Given the description of an element on the screen output the (x, y) to click on. 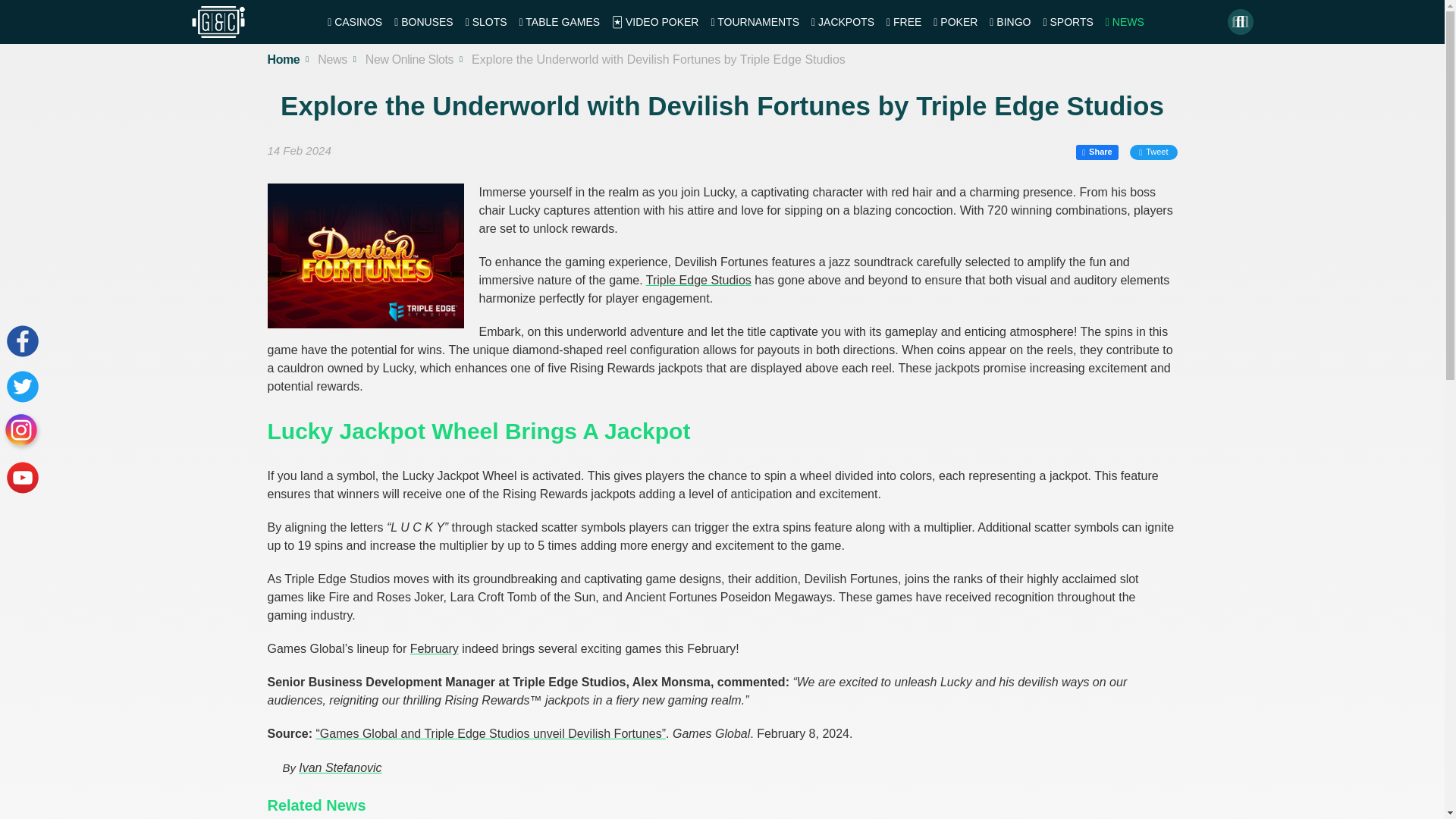
Read More Info Here (434, 648)
Triple Edge Studios Casinos (698, 279)
